Given the description of an element on the screen output the (x, y) to click on. 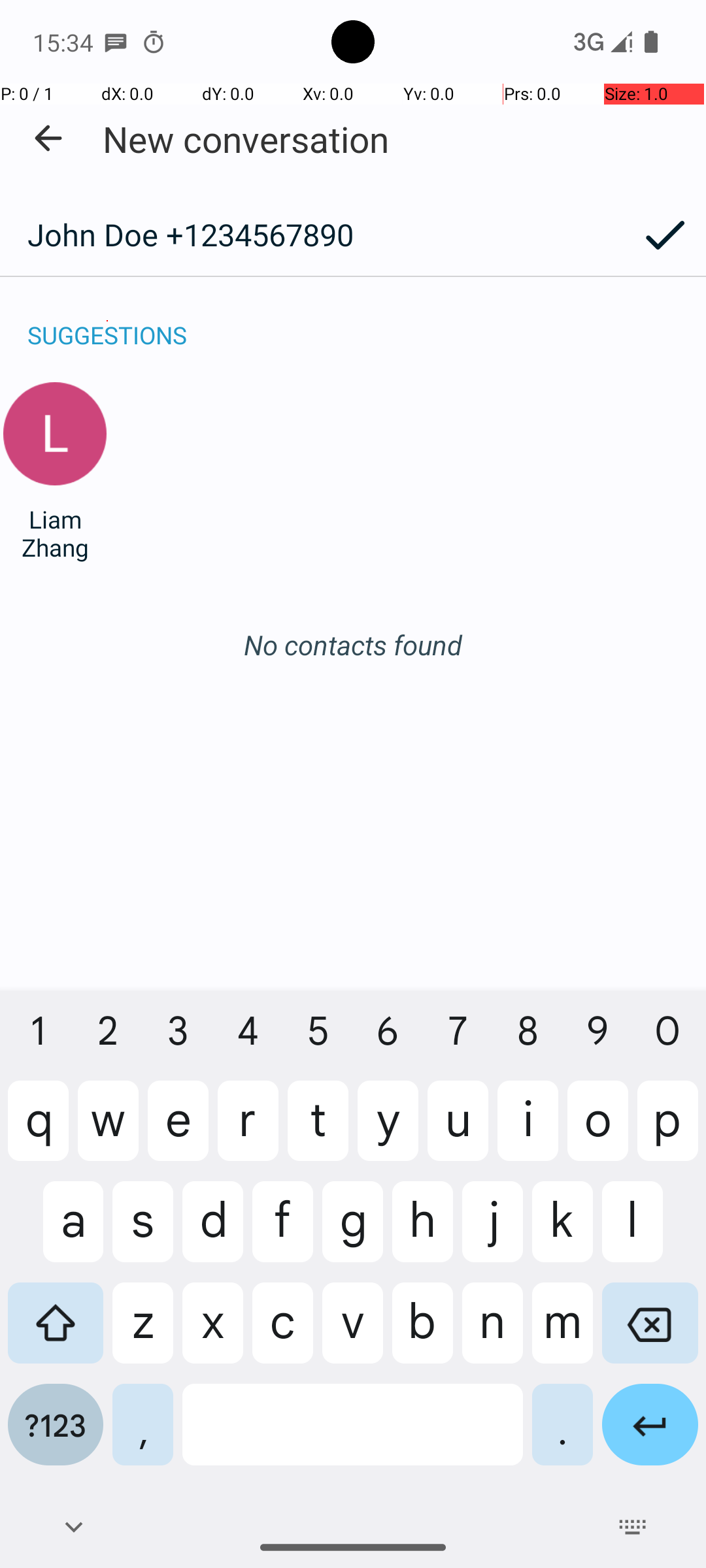
John Doe +1234567890 Element type: android.widget.EditText (311, 234)
SUGGESTIONS Element type: android.widget.TextView (106, 321)
Liam Zhang Element type: android.widget.TextView (54, 532)
SMS Messenger notification: Liam Zhang Element type: android.widget.ImageView (115, 41)
